Given the description of an element on the screen output the (x, y) to click on. 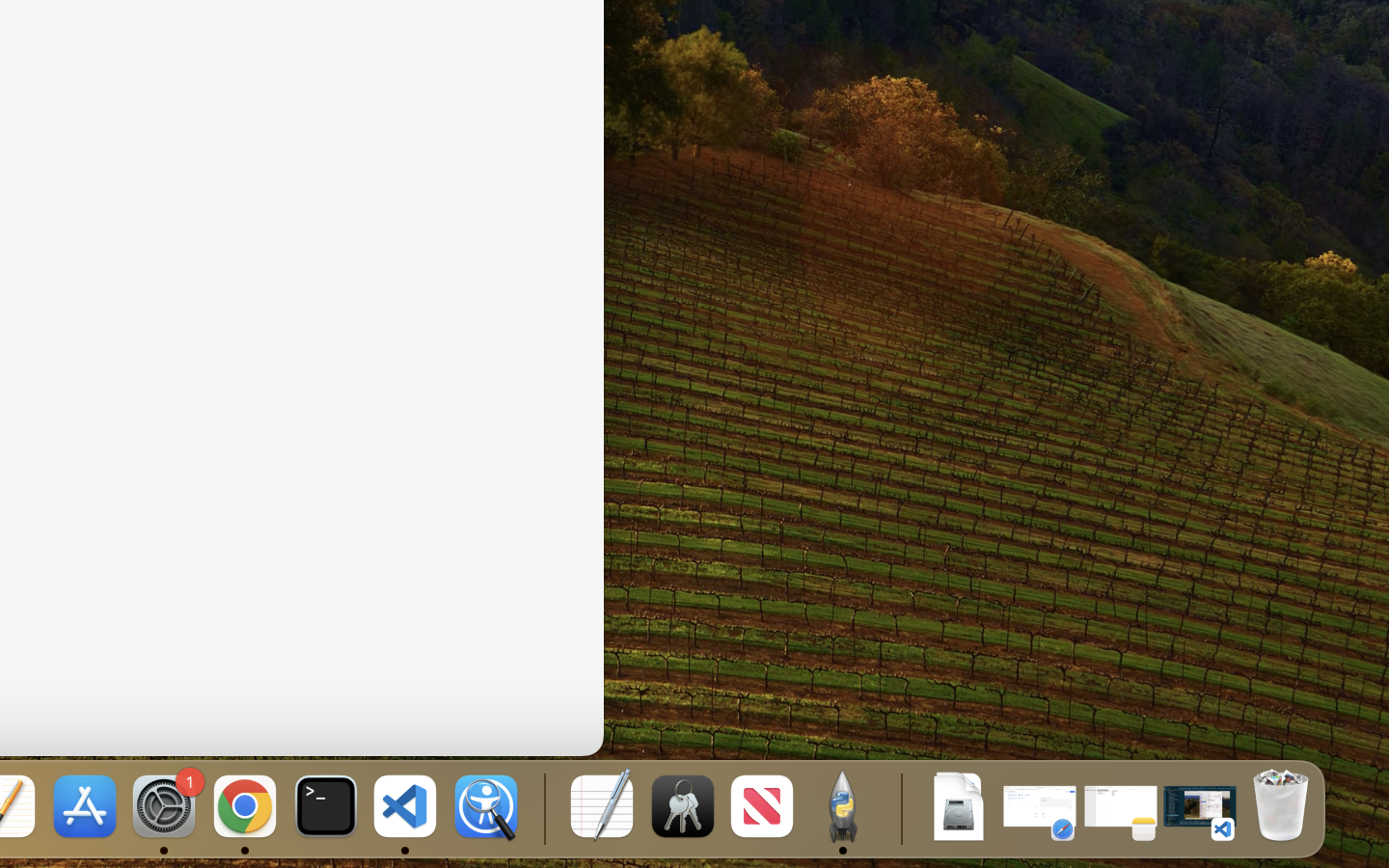
0.4285714328289032 Element type: AXDockItem (541, 807)
